Given the description of an element on the screen output the (x, y) to click on. 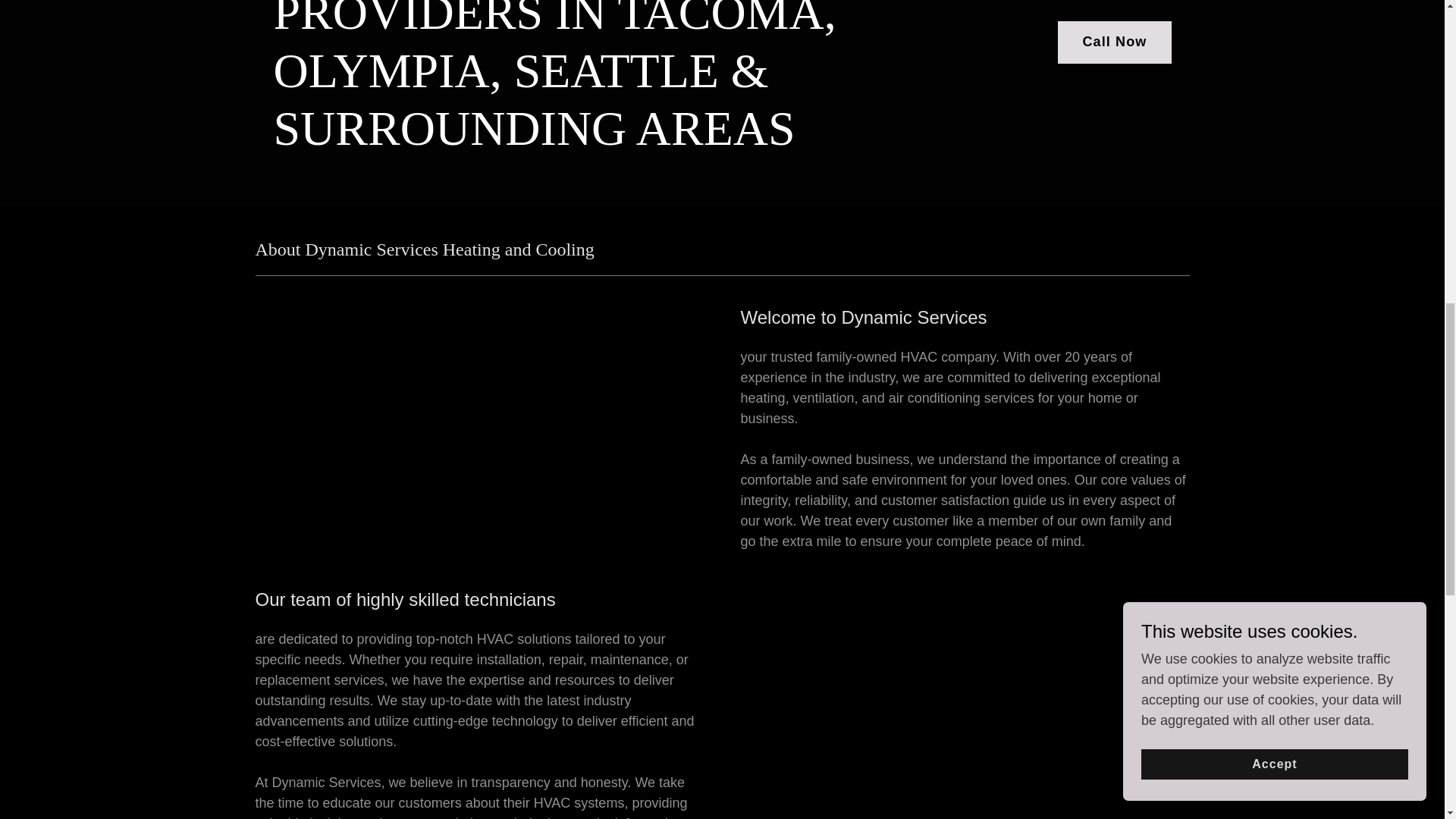
Call Now (1114, 42)
